Given the description of an element on the screen output the (x, y) to click on. 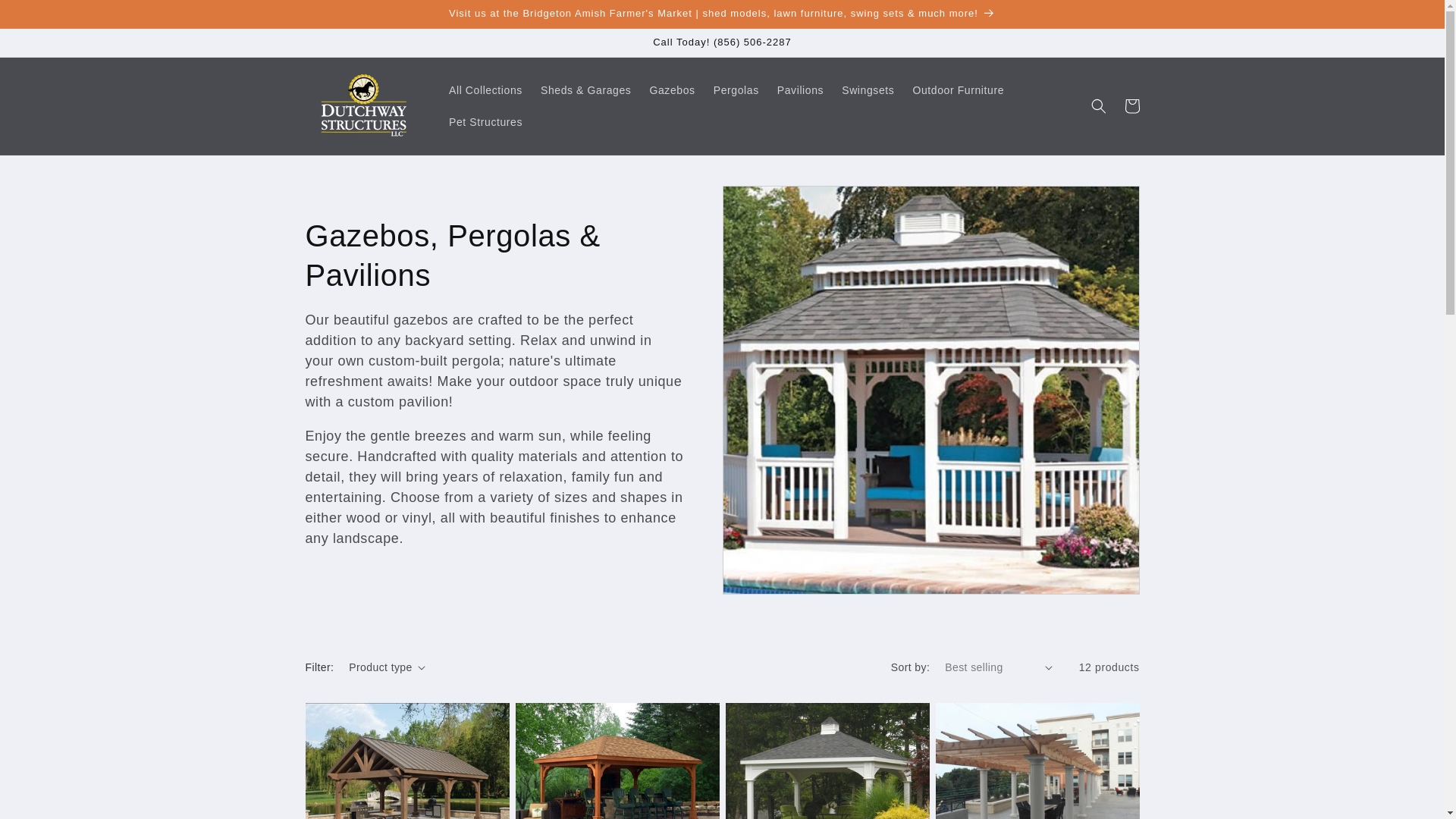
Gazebos (671, 90)
Pavilions (800, 90)
Skip to content (45, 17)
Pergolas (736, 90)
All Collections (485, 90)
Cart (1131, 105)
Swingsets (867, 90)
Outdoor Furniture (957, 90)
Pet Structures (485, 122)
